Given the description of an element on the screen output the (x, y) to click on. 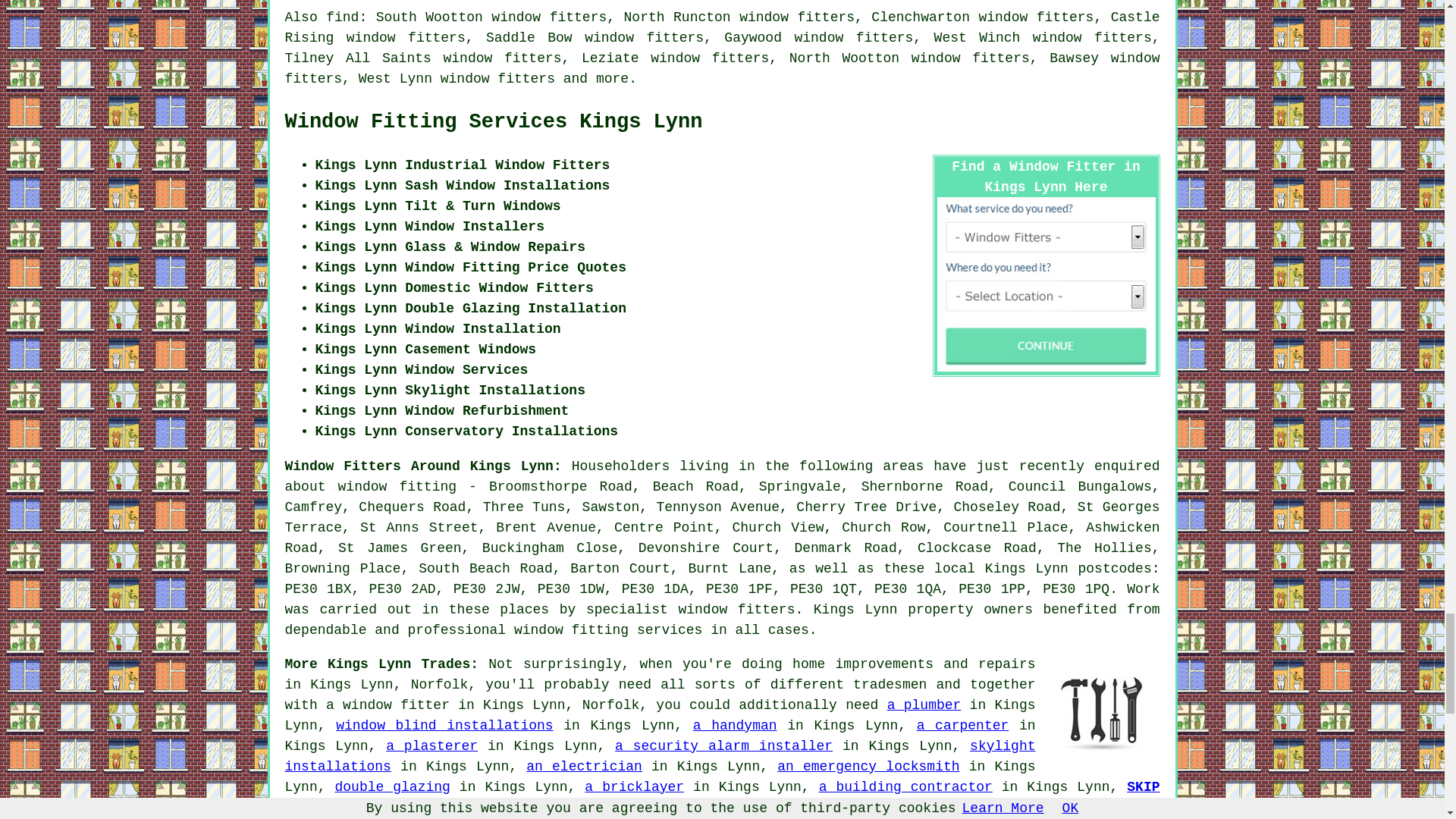
More Kings Lynn Tradesmen (1103, 711)
